Given the description of an element on the screen output the (x, y) to click on. 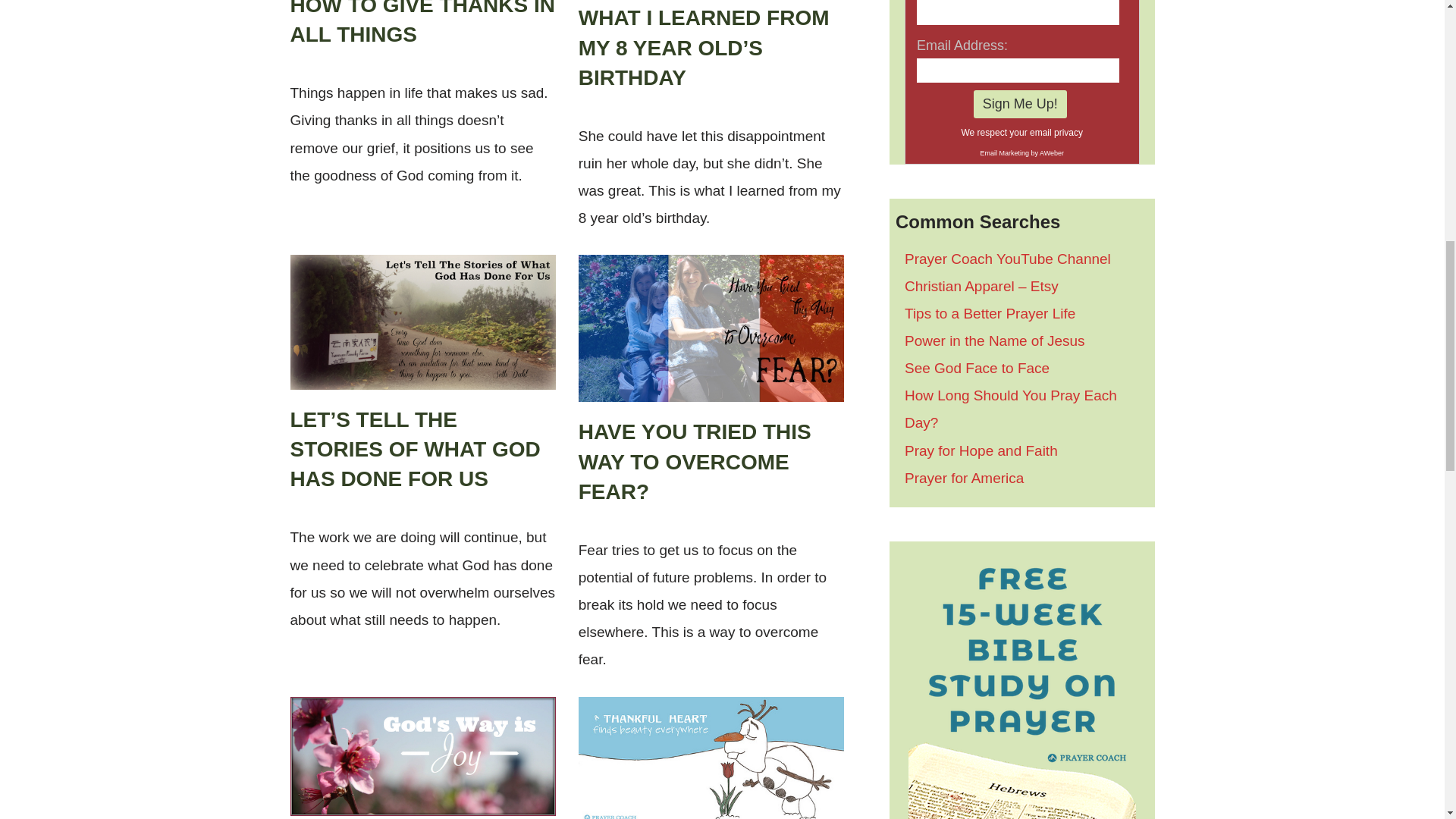
HOW TO GIVE THANKS IN ALL THINGS (421, 22)
HAVE YOU TRIED THIS WAY TO OVERCOME FEAR? (694, 461)
Sign Me Up! (1020, 103)
Have You Tried This Way to Overcome Fear? (711, 328)
